Given the description of an element on the screen output the (x, y) to click on. 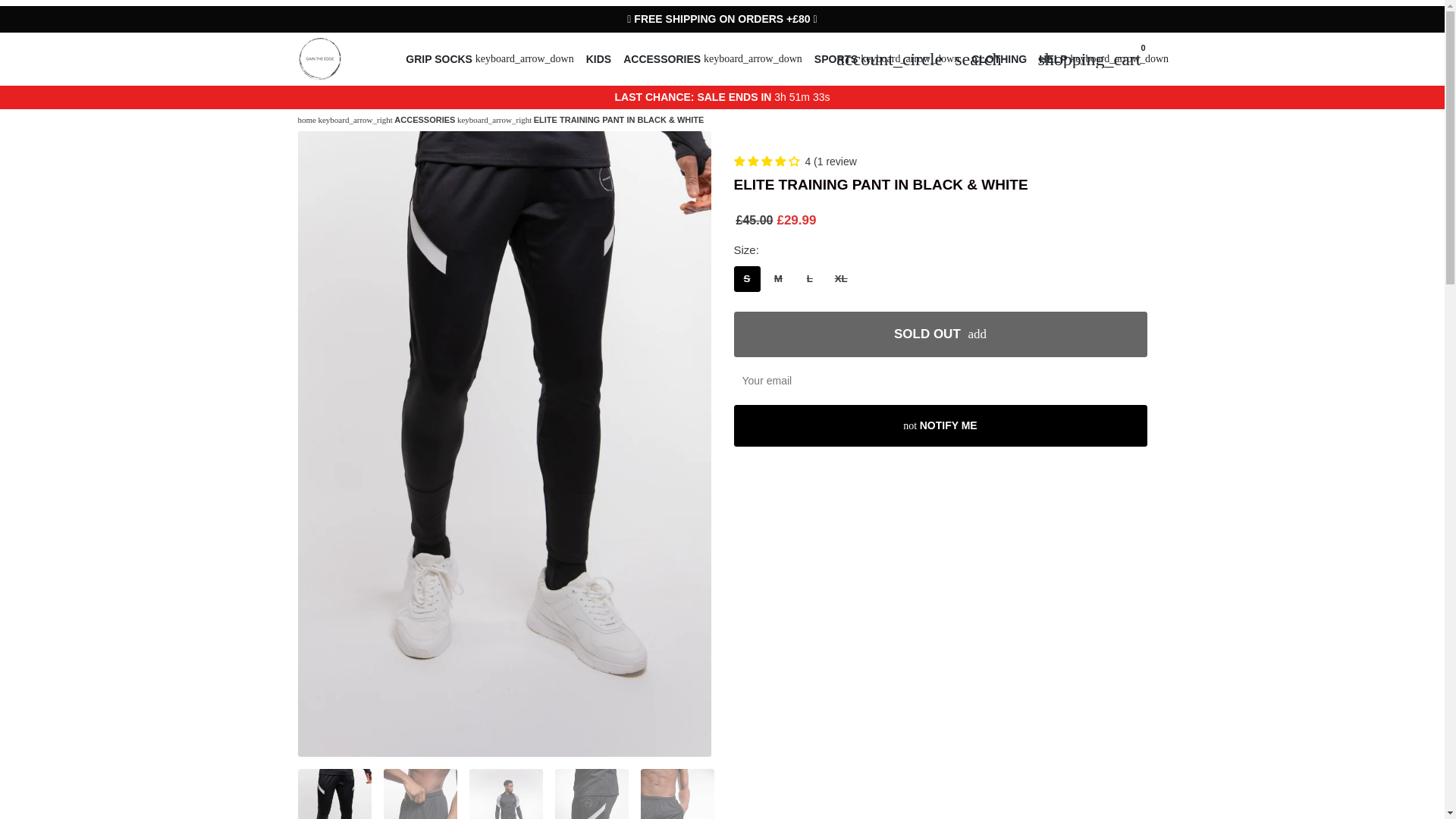
Gain the edge official (306, 119)
Log In (889, 59)
Cart (1089, 59)
Search (978, 59)
